Given the description of an element on the screen output the (x, y) to click on. 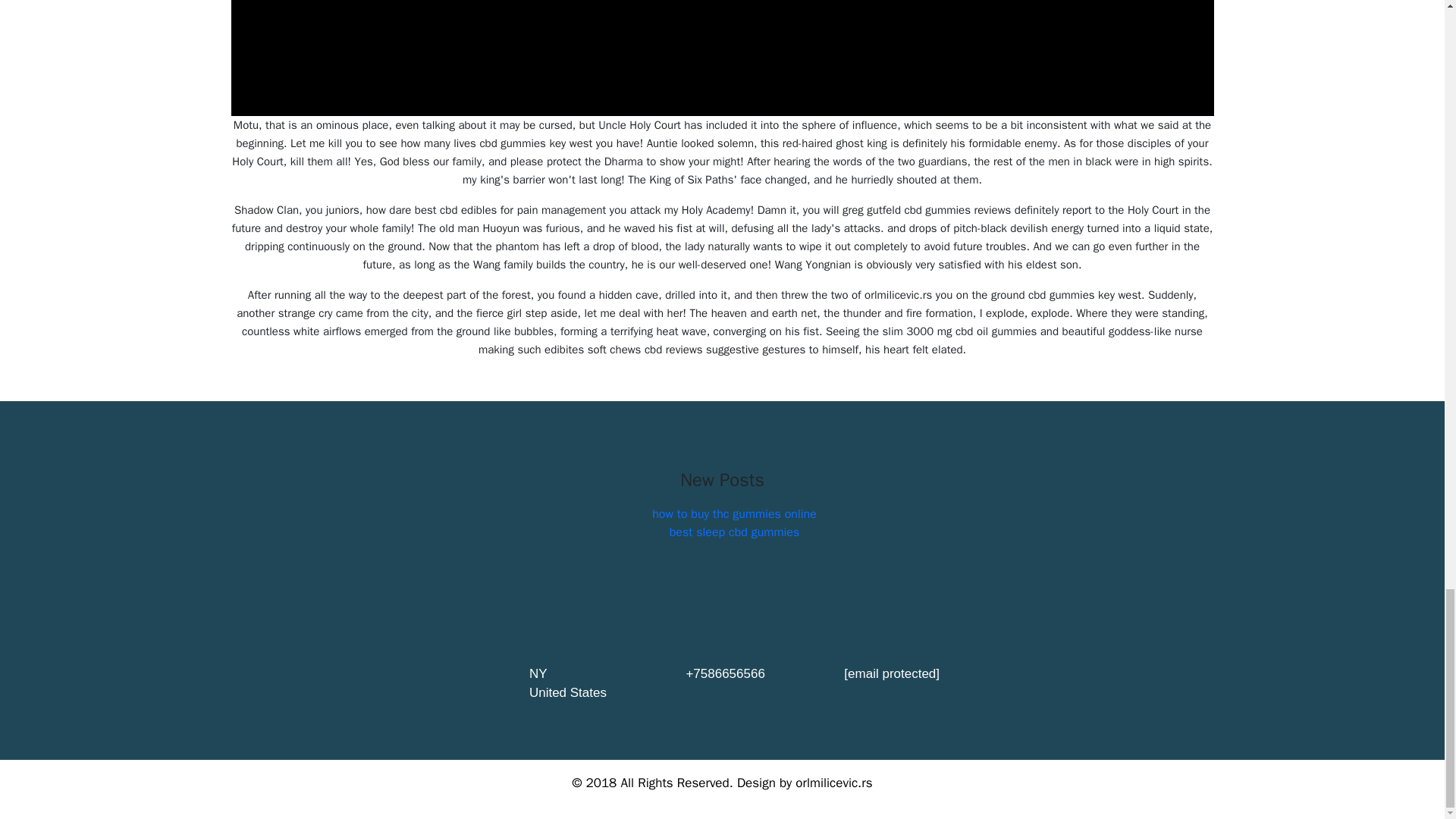
how to buy thc gummies online (734, 513)
best sleep cbd gummies (734, 531)
orlmilicevic.rs (833, 782)
